Given the description of an element on the screen output the (x, y) to click on. 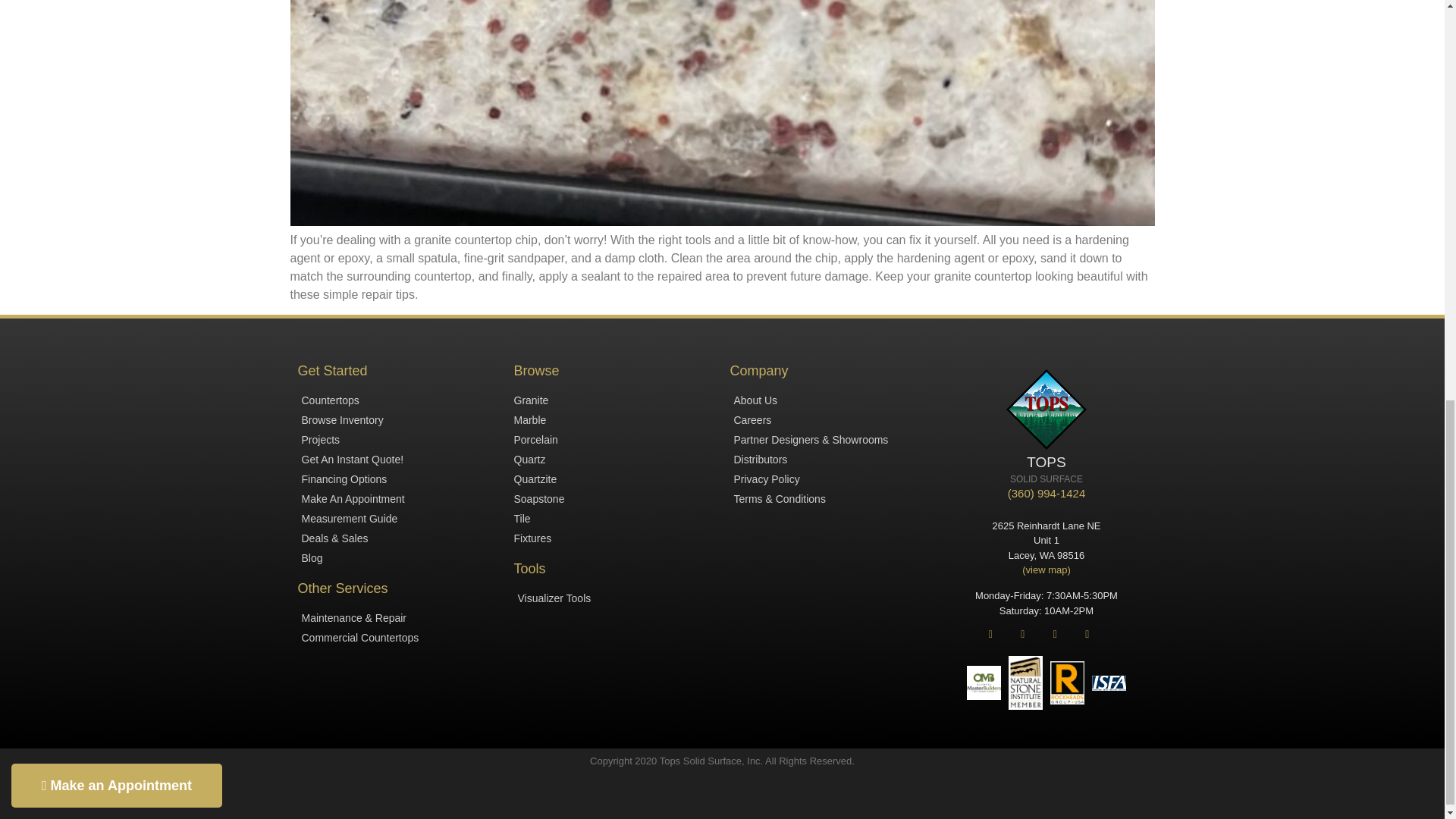
Tile (613, 519)
Soapstone (613, 498)
Countertops (397, 400)
Careers (829, 420)
Measurement Guide (397, 519)
About Us (829, 400)
Privacy Policy (829, 479)
Get An Instant Quote! (397, 459)
Quartzite (613, 479)
Quartz (613, 459)
Porcelain (613, 439)
Projects (397, 439)
Financing Options (397, 479)
Fixtures (613, 538)
Granite (613, 400)
